Given the description of an element on the screen output the (x, y) to click on. 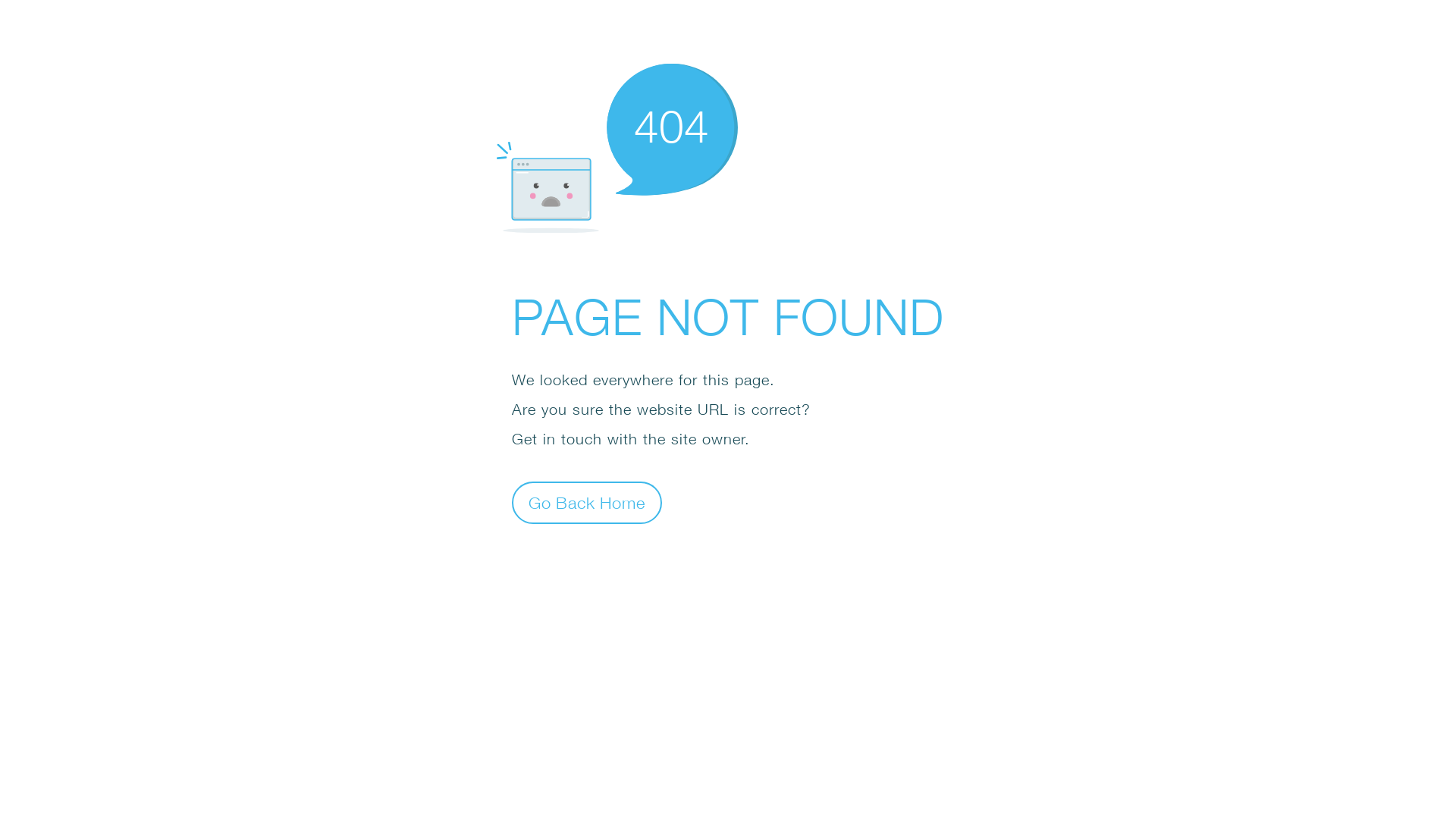
Go Back Home Element type: text (586, 502)
